Given the description of an element on the screen output the (x, y) to click on. 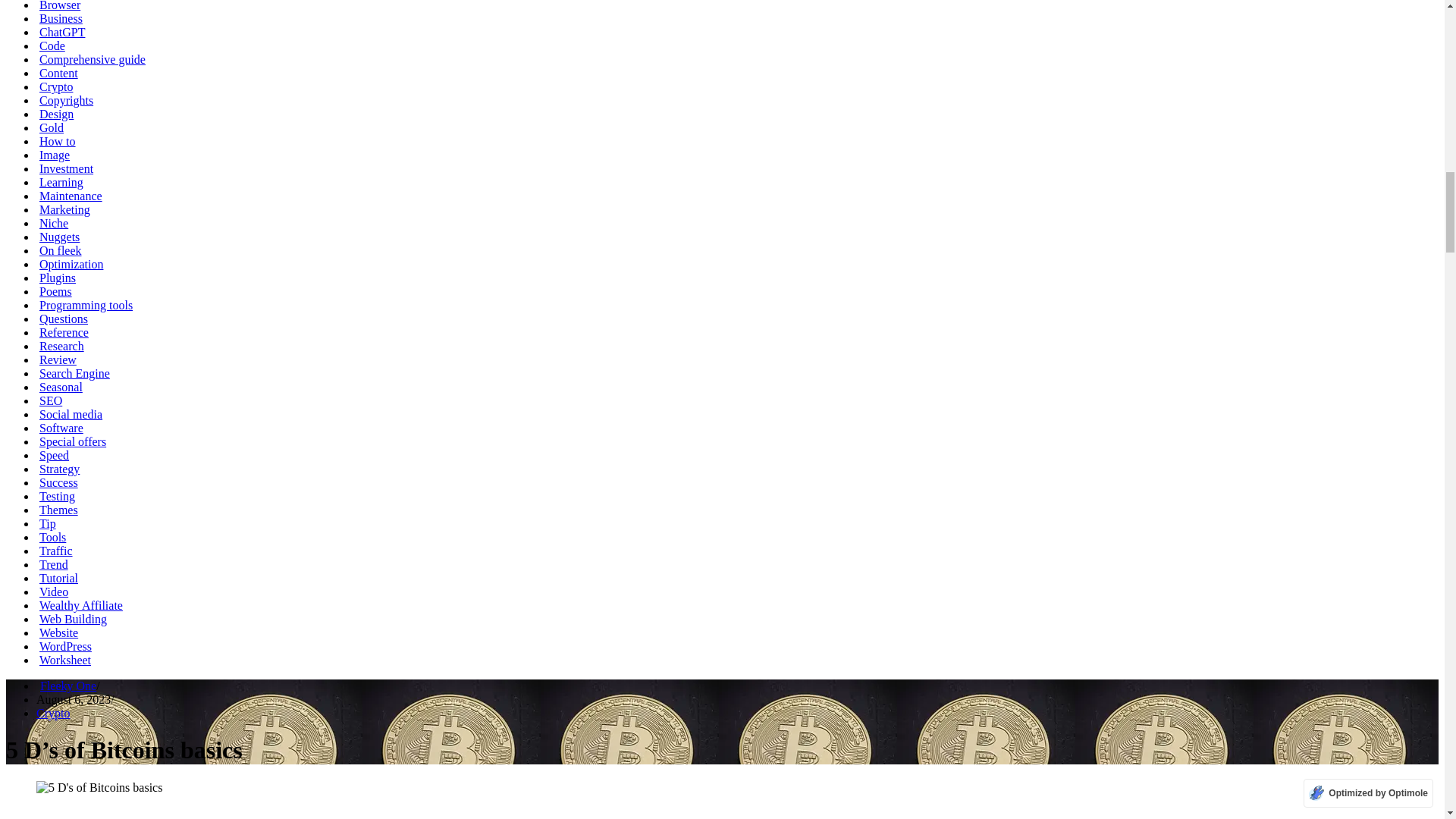
Posts by Fleeky One (68, 685)
5 D's of Bitcoins basics (98, 787)
